Given the description of an element on the screen output the (x, y) to click on. 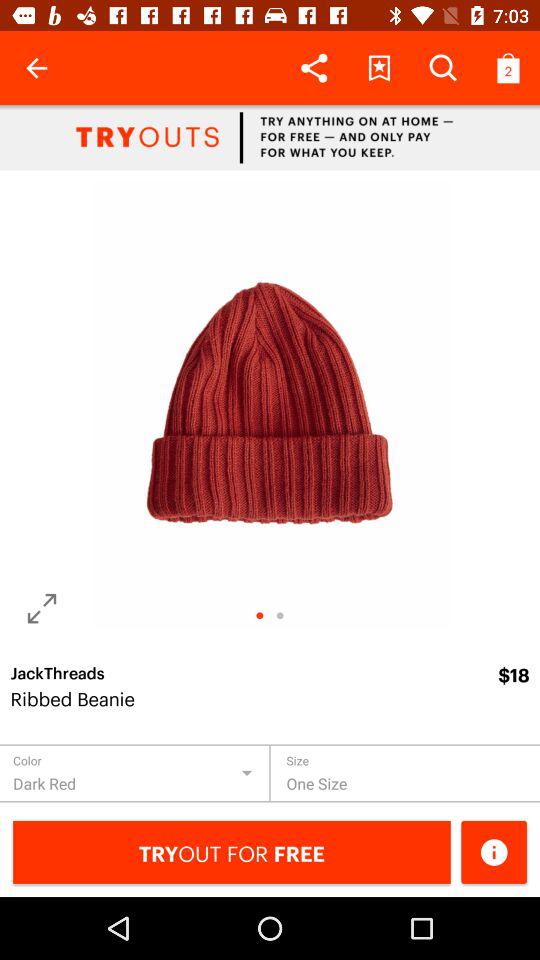
know more information about the product (493, 851)
